Given the description of an element on the screen output the (x, y) to click on. 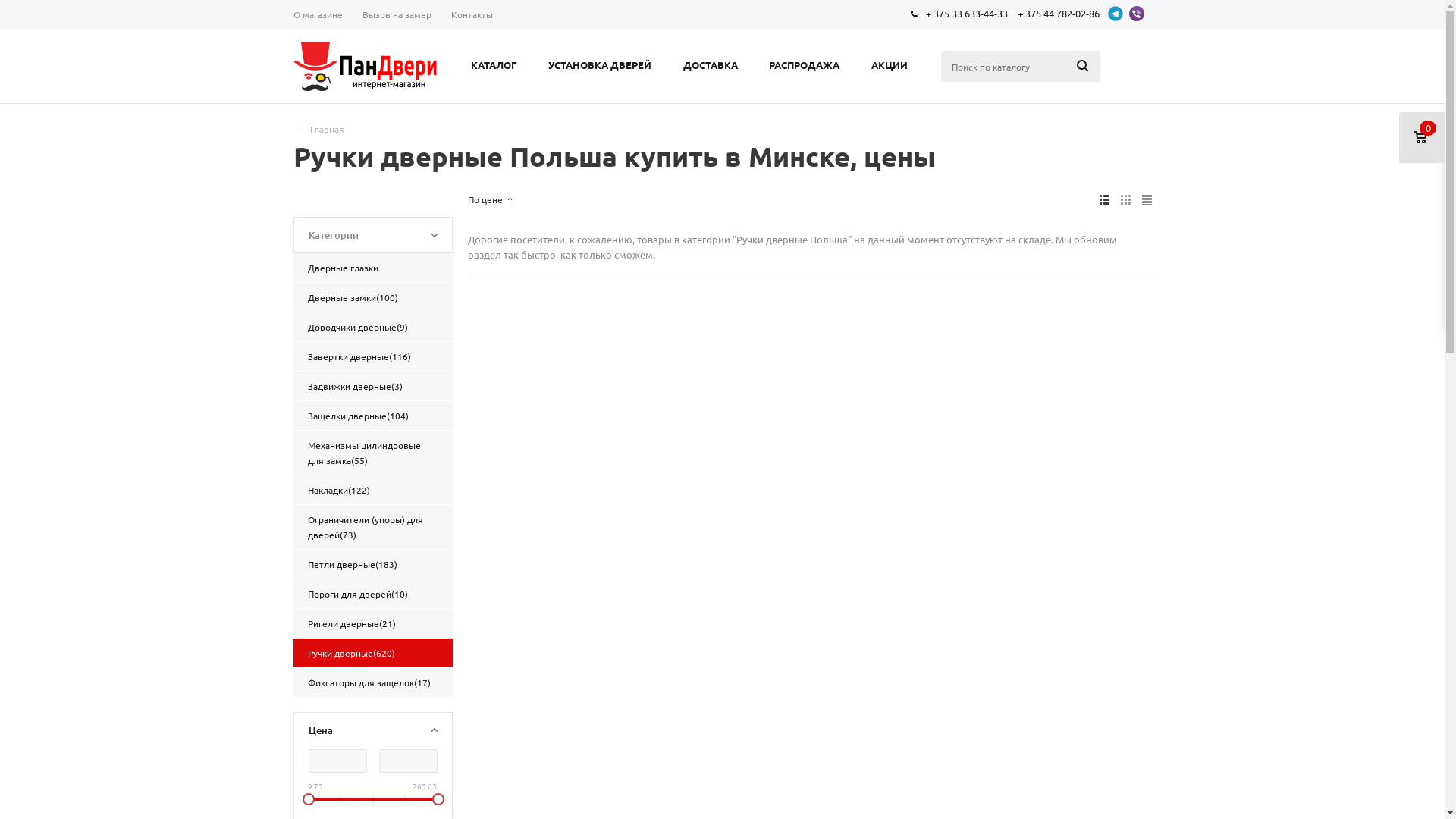
pandveri.by Element type: hover (364, 66)
+ 375 33 633-44-33 Element type: text (966, 12)
+ 375 44 782-02-86 Element type: text (1058, 12)
Y Element type: text (4, 4)
